Given the description of an element on the screen output the (x, y) to click on. 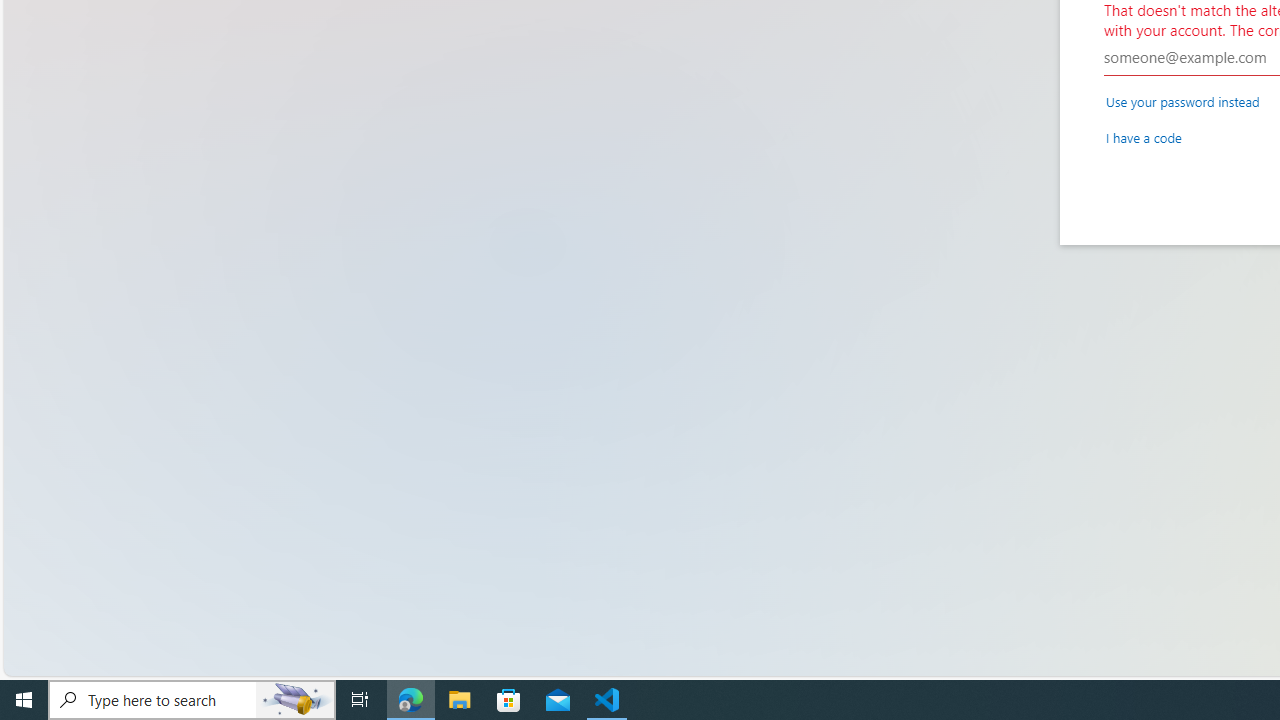
I have a code (1143, 137)
Use your password instead (1182, 101)
